Given the description of an element on the screen output the (x, y) to click on. 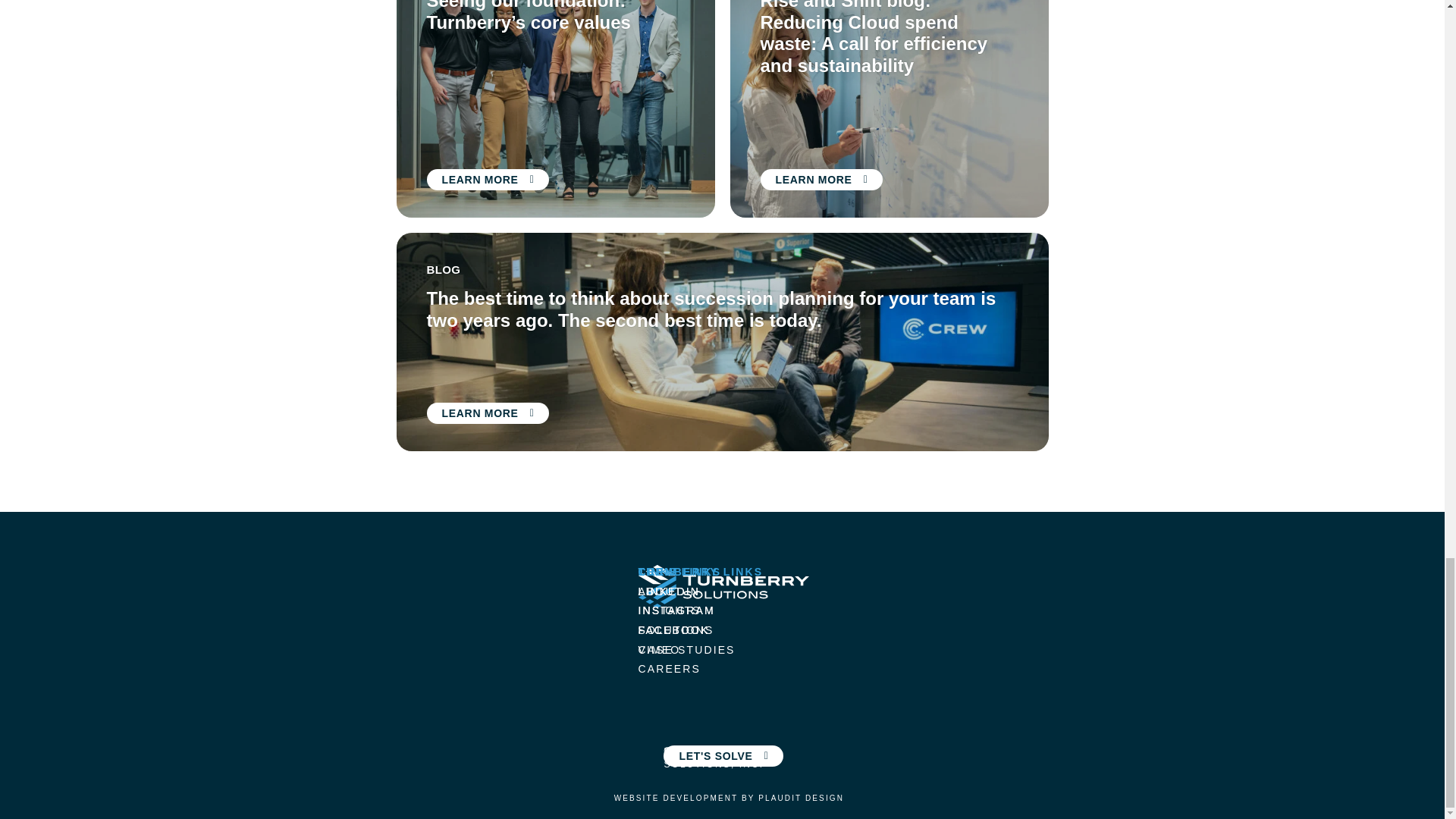
CASE STUDIES (687, 649)
ABOUT (660, 591)
LEARN MORE (487, 179)
SOLUTIONS (676, 630)
LEARN MORE (821, 179)
FACEBOOK (674, 630)
CAREERS (669, 668)
INSIGHTS (670, 610)
LINKEDIN (669, 591)
INSTAGRAM (676, 610)
VIMEO (660, 649)
LEARN MORE (487, 413)
